Given the description of an element on the screen output the (x, y) to click on. 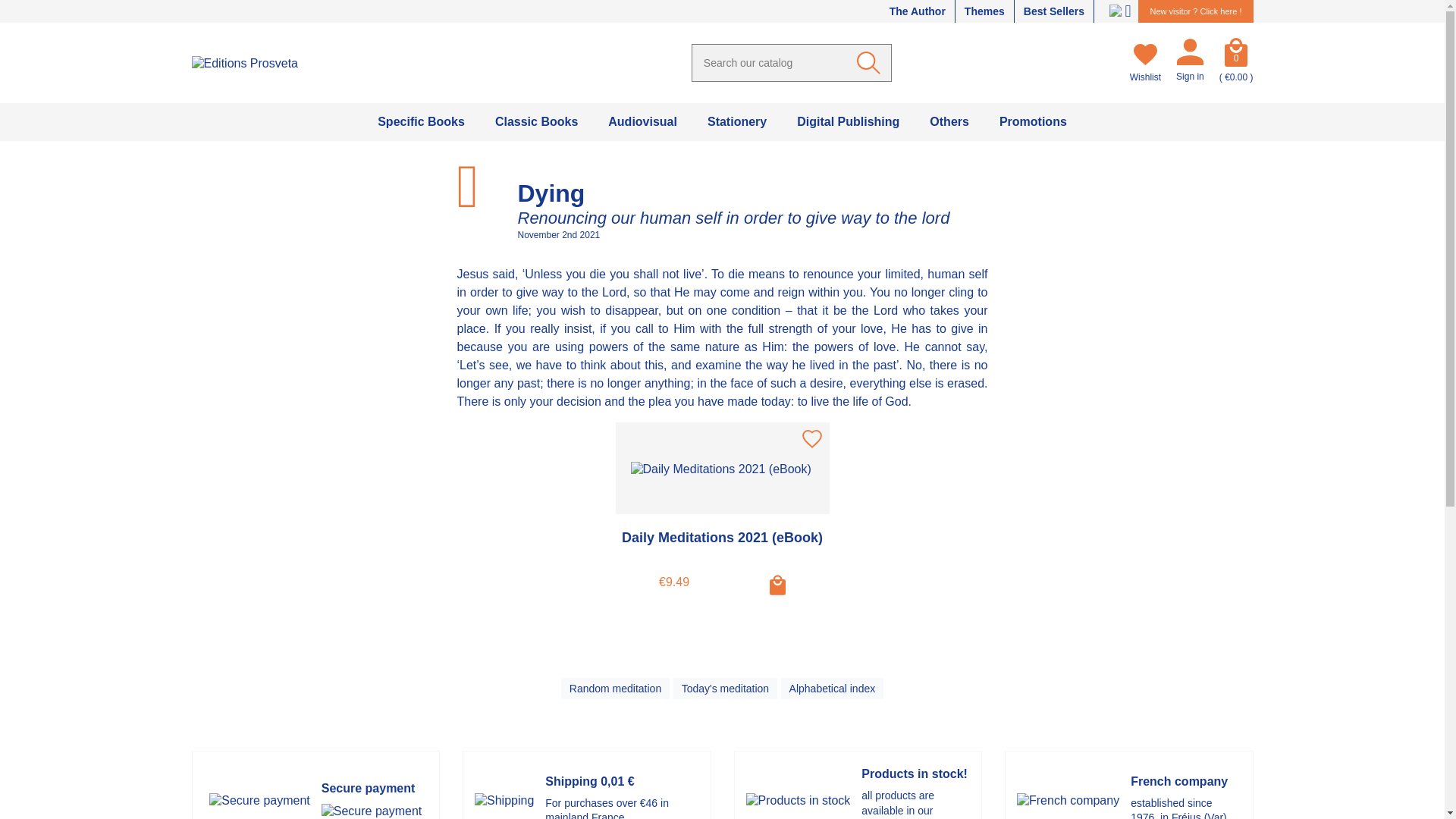
Specific Books (421, 121)
New visitor ? Click here ! (1195, 11)
Classic Books (536, 121)
The Author (917, 11)
Best Sellers (1053, 11)
Themes (984, 11)
